Given the description of an element on the screen output the (x, y) to click on. 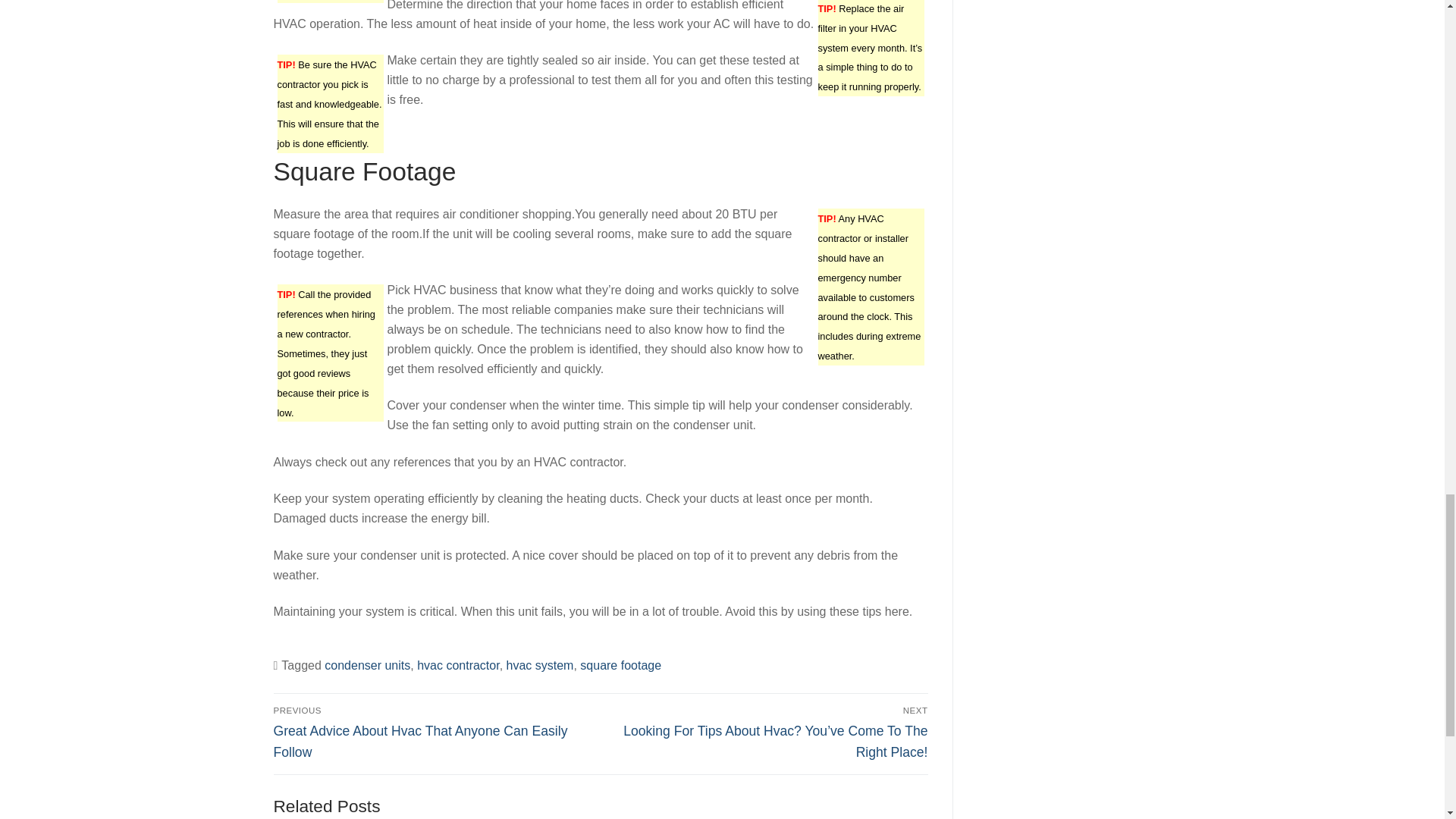
condenser units (367, 665)
hvac system (539, 665)
square footage (620, 665)
hvac contractor (457, 665)
